Given the description of an element on the screen output the (x, y) to click on. 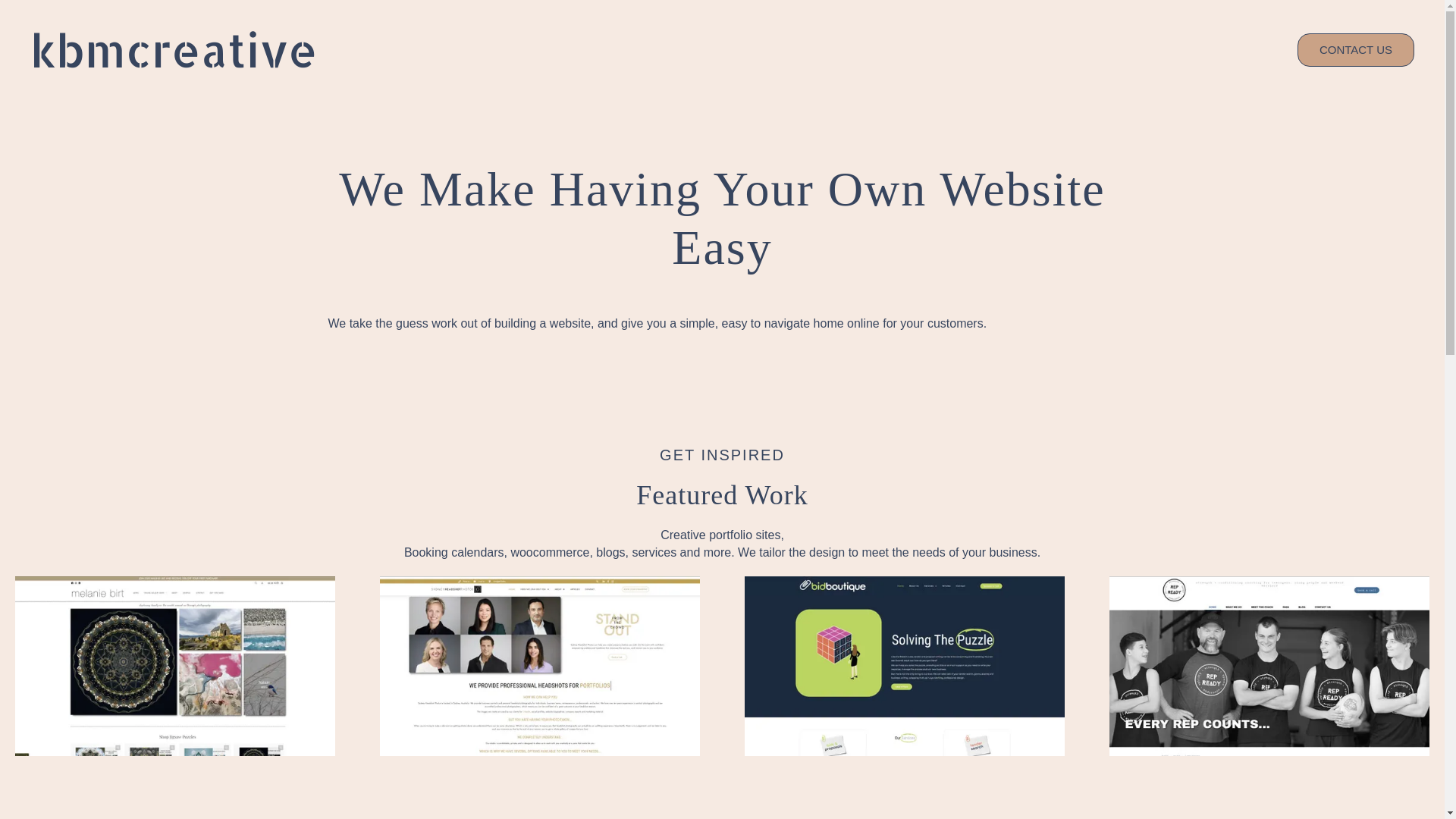
kbmcreative Element type: text (173, 49)
CONTACT US Element type: text (1355, 49)
